Given the description of an element on the screen output the (x, y) to click on. 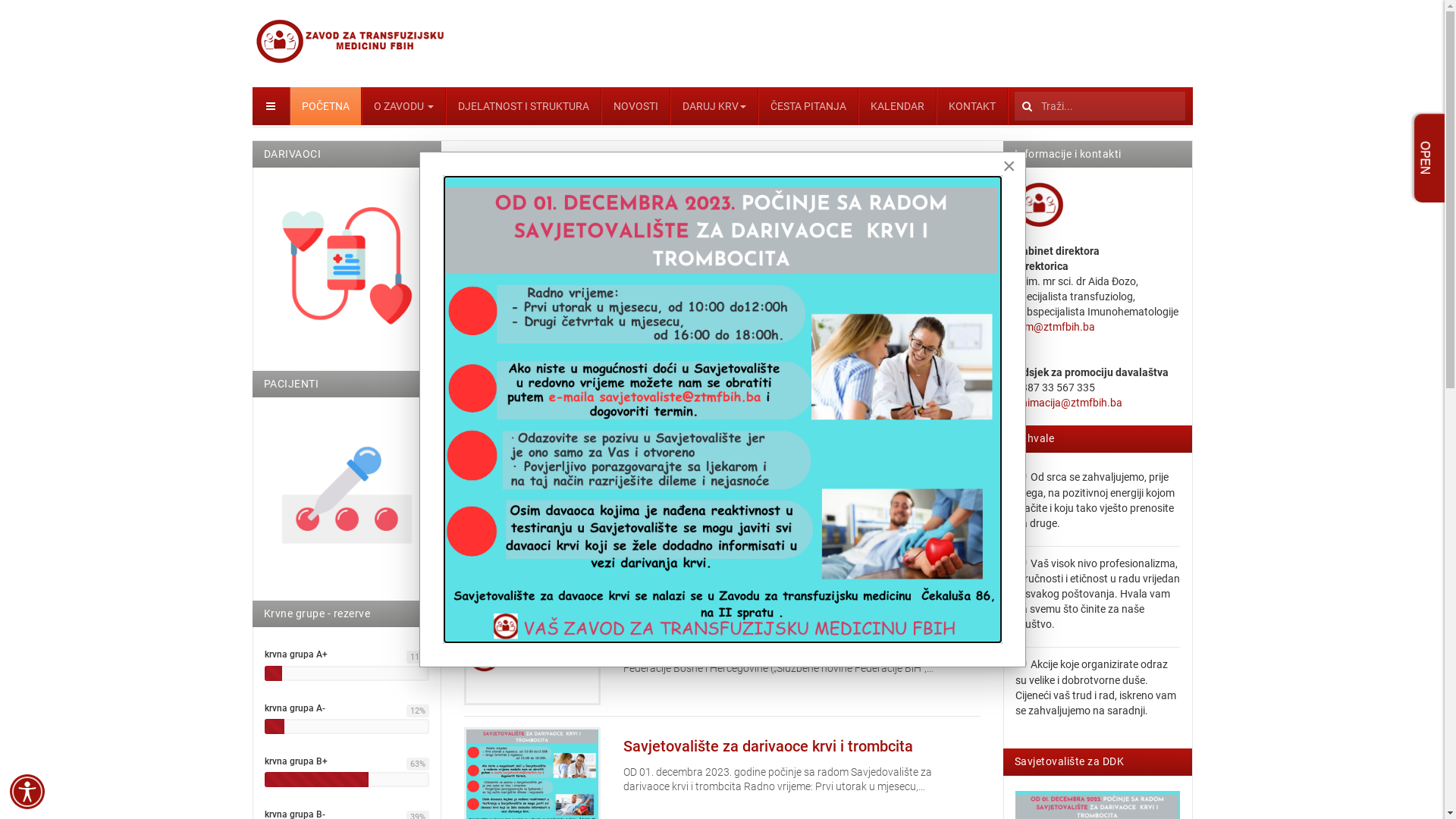
JAVNI OGLAS za prijem u radni odnos Element type: text (750, 627)
KONTAKT Element type: text (972, 106)
DJELATNOST I STRUKTURA Element type: text (522, 106)
O ZAVODU Element type: text (403, 106)
KALENDAR Element type: text (896, 106)
ztm@ztmfbih.ba Element type: text (1055, 326)
NOVOSTI Element type: text (636, 106)
animacija@ztmfbih.ba Element type: text (1068, 402)
www.ztmfbih.ba Element type: hover (351, 41)
